Given the description of an element on the screen output the (x, y) to click on. 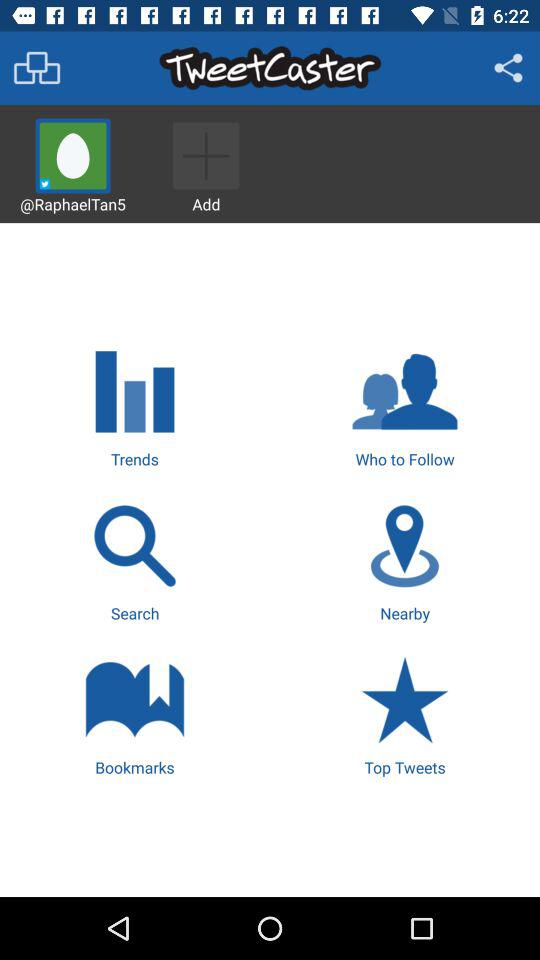
click item next to the search icon (404, 559)
